Given the description of an element on the screen output the (x, y) to click on. 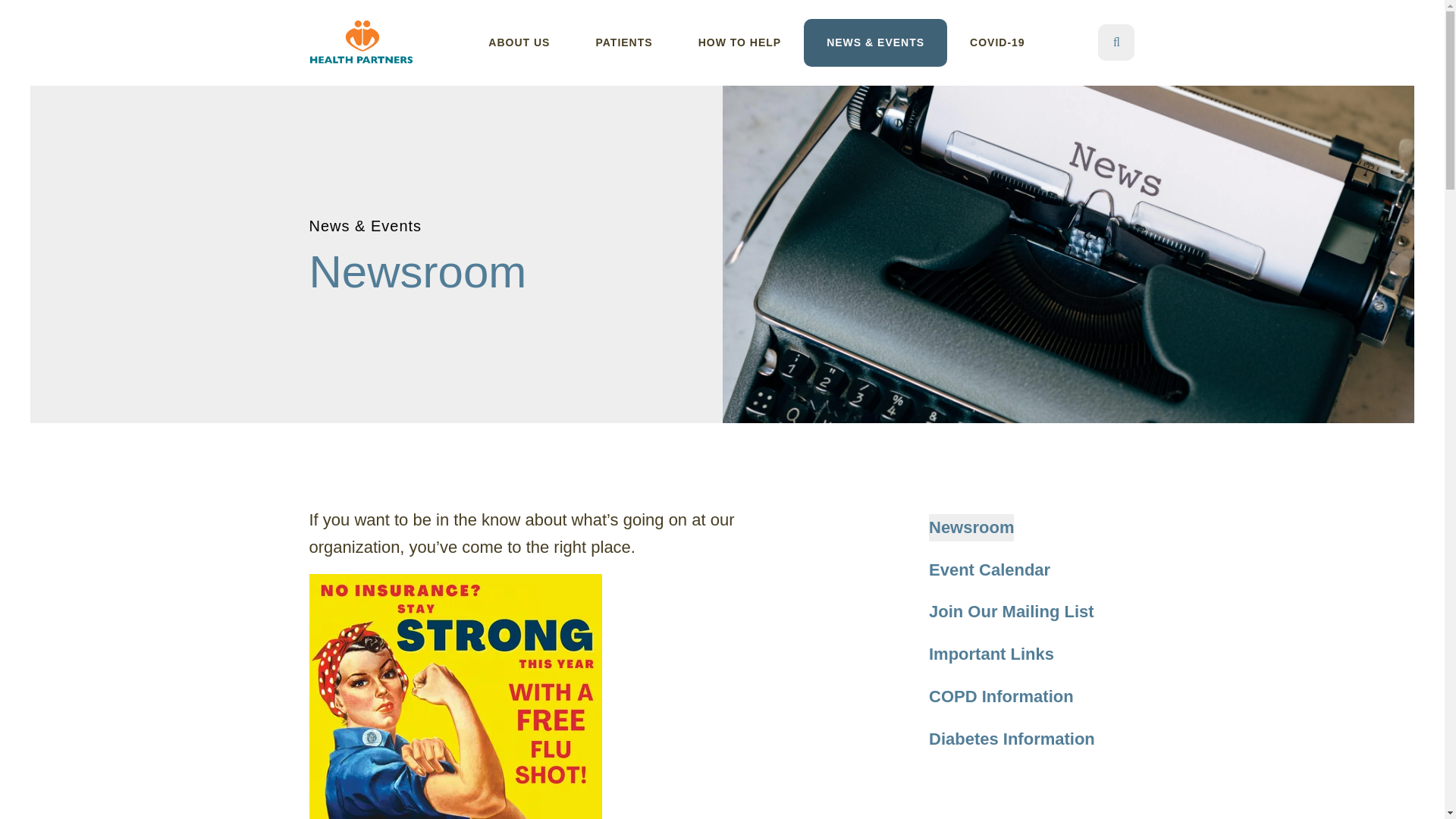
COVID-19 (997, 42)
logo (361, 42)
Join Our Mailing List (1011, 611)
ABOUT US (518, 42)
Diabetes Information (1011, 738)
PATIENTS (623, 42)
HOW TO HELP (740, 42)
Event Calendar (988, 569)
COPD Information (1001, 696)
Important Links (991, 654)
